Given the description of an element on the screen output the (x, y) to click on. 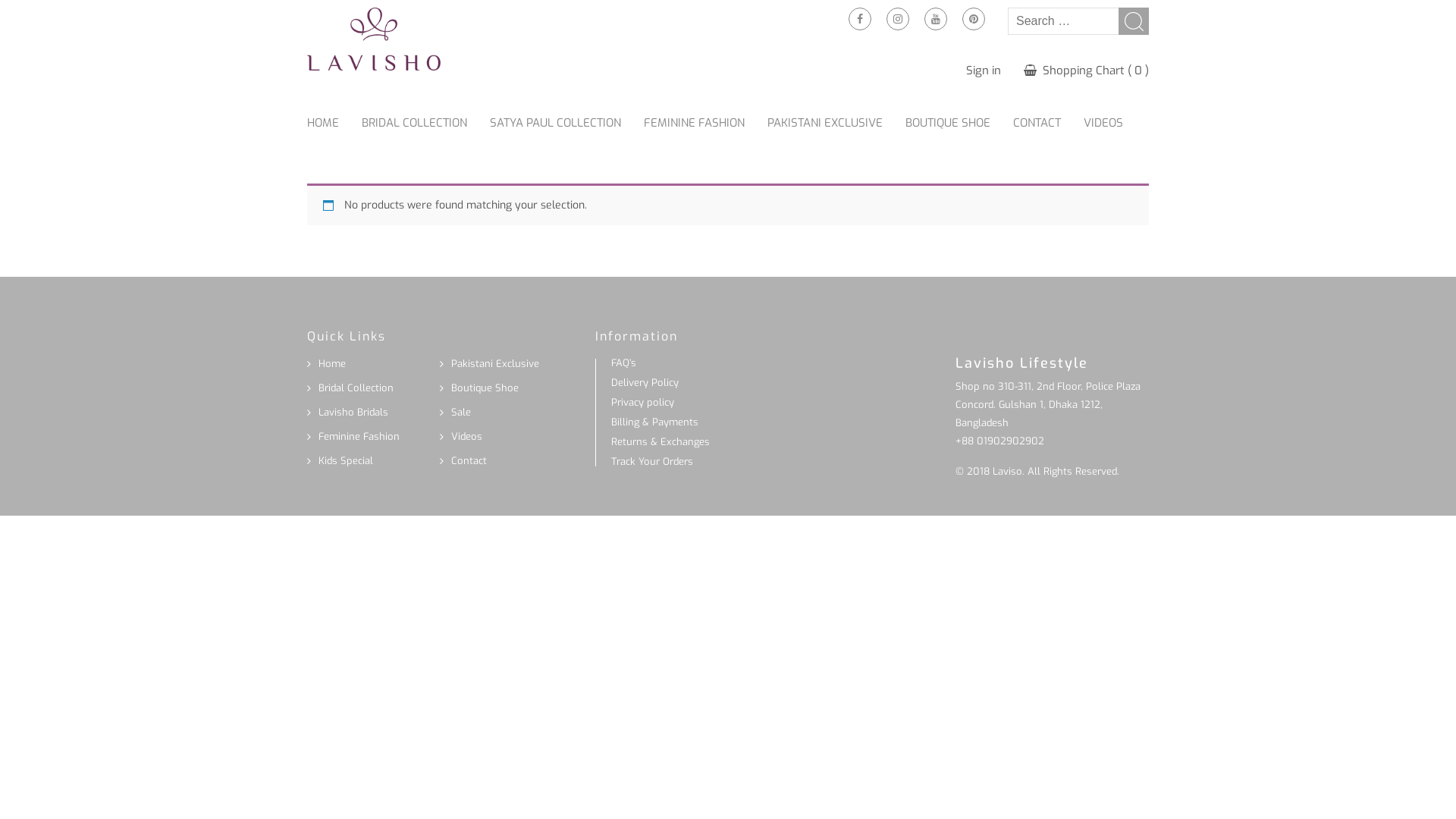
Boutique Shoe Element type: text (484, 387)
Track Your Orders Element type: text (652, 461)
Search Element type: text (1133, 20)
HOME Element type: text (334, 122)
BOUTIQUE SHOE Element type: text (959, 122)
Returns & Exchanges Element type: text (660, 441)
FEMININE FASHION Element type: text (705, 122)
Kids Special Element type: text (345, 460)
Feminine Fashion Element type: text (358, 435)
Sign in Element type: text (983, 70)
CONTACT Element type: text (1048, 122)
Bridal Collection Element type: text (355, 387)
Home Element type: text (331, 363)
Contact Element type: text (468, 460)
Delivery Policy Element type: text (644, 382)
VIDEOS Element type: text (1114, 122)
SATYA PAUL COLLECTION Element type: text (566, 122)
Pakistani Exclusive Element type: text (495, 363)
Videos Element type: text (466, 435)
PAKISTANI EXCLUSIVE Element type: text (836, 122)
Lavisho Bridals Element type: text (353, 411)
Privacy policy Element type: text (642, 401)
Billing & Payments Element type: text (654, 421)
Shopping Chart ( 0 ) Element type: text (1085, 70)
Sale Element type: text (460, 411)
BRIDAL COLLECTION Element type: text (425, 122)
